Given the description of an element on the screen output the (x, y) to click on. 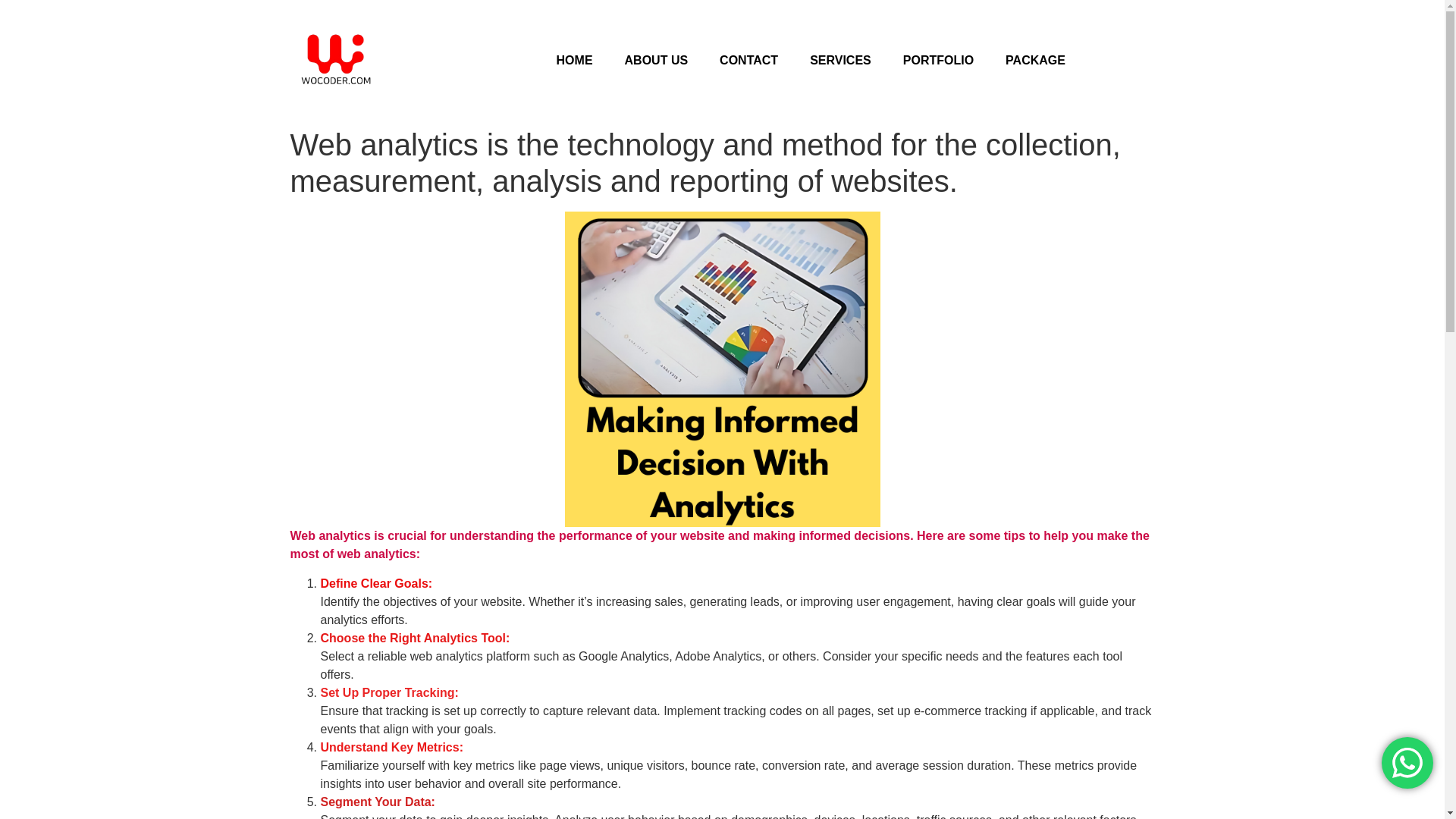
ABOUT US (656, 60)
HOME (574, 60)
PACKAGE (1035, 60)
PORTFOLIO (938, 60)
SERVICES (839, 60)
CONTACT (748, 60)
Contact Us (1406, 762)
